Given the description of an element on the screen output the (x, y) to click on. 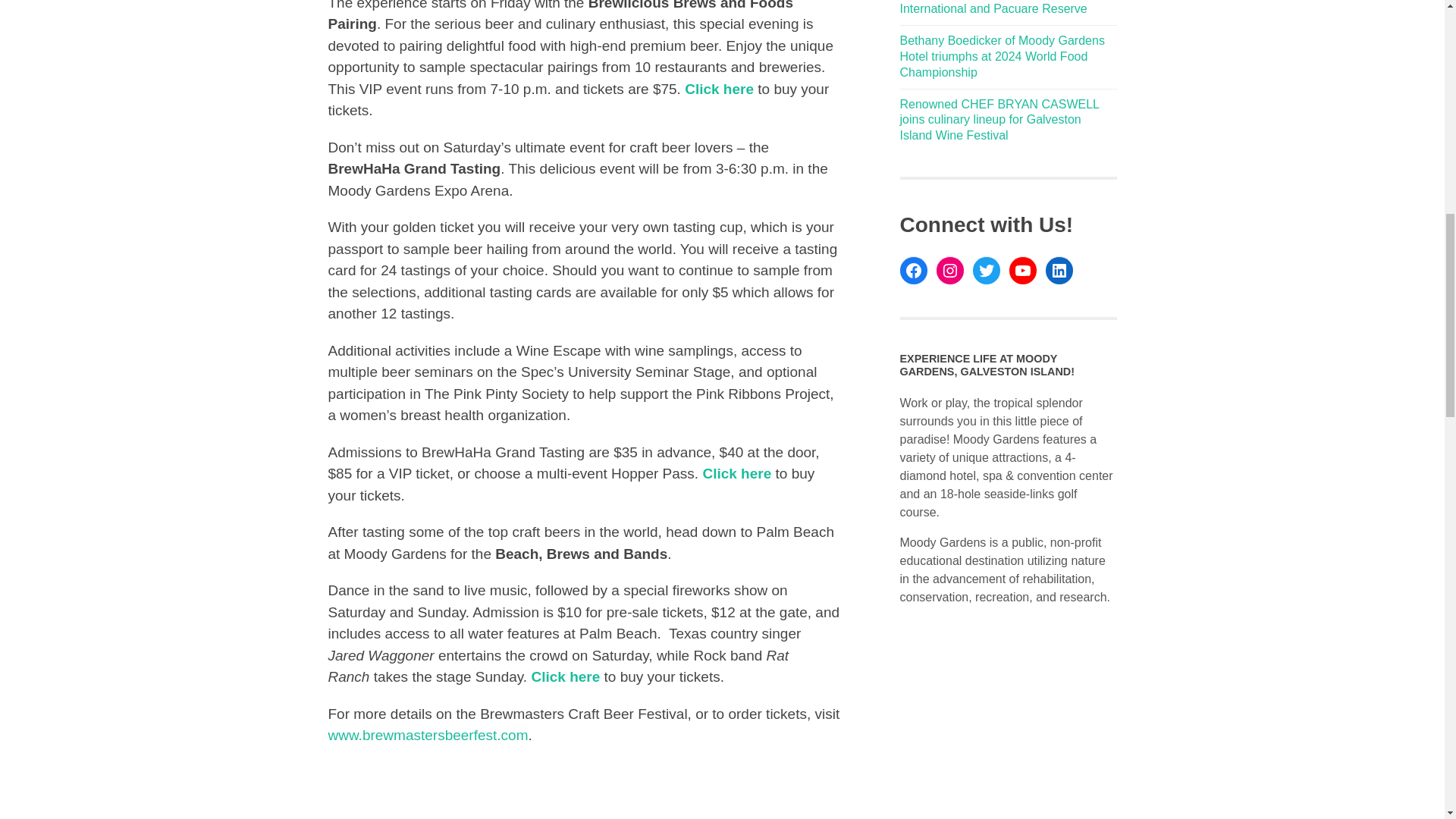
www.brewmastersbeerfest.com (427, 734)
Click here (736, 473)
Click here (719, 89)
Click here (565, 676)
